Given the description of an element on the screen output the (x, y) to click on. 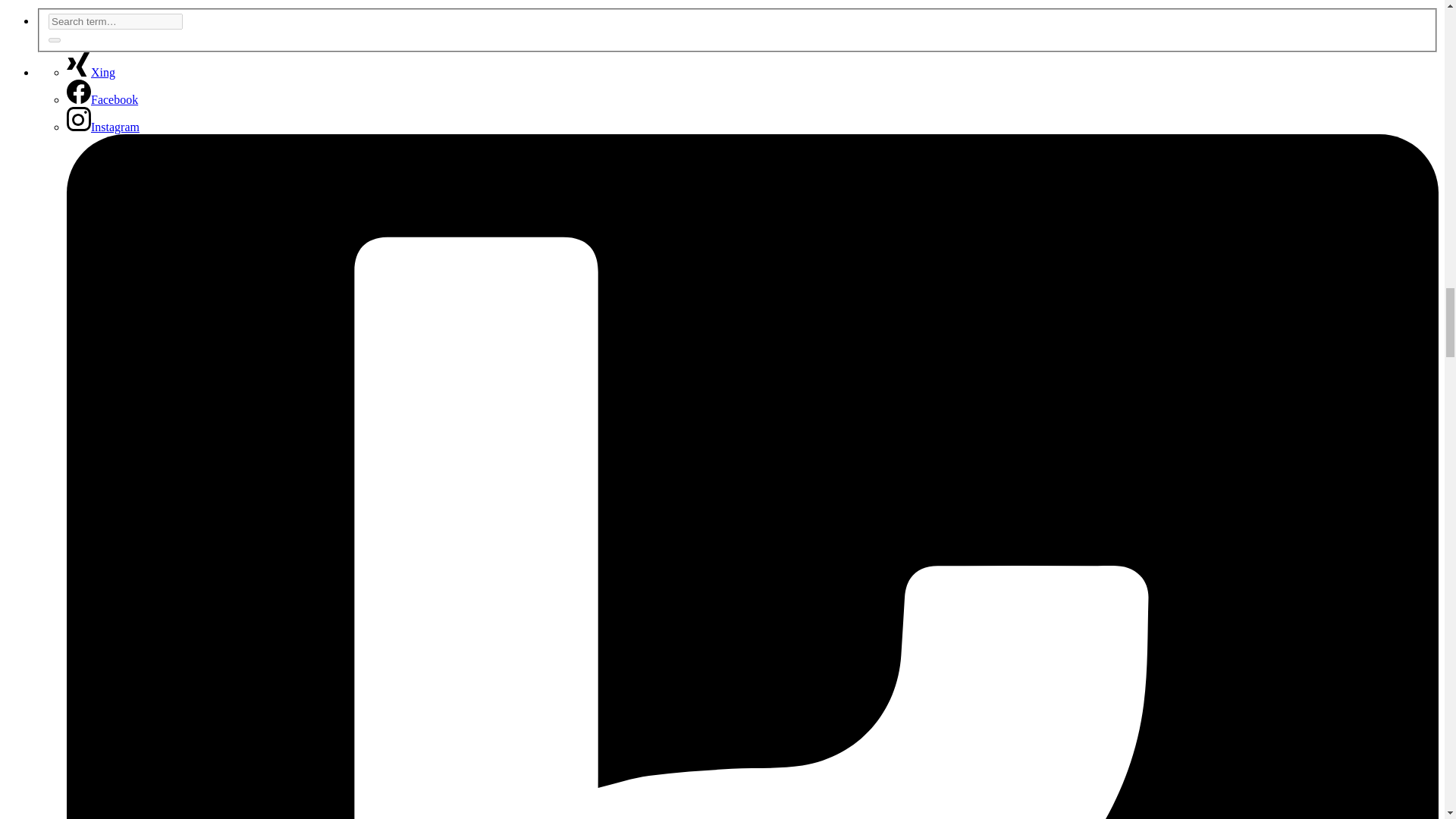
Xing (90, 72)
Xing (90, 72)
Instagram (102, 126)
Facebook (102, 99)
